Given the description of an element on the screen output the (x, y) to click on. 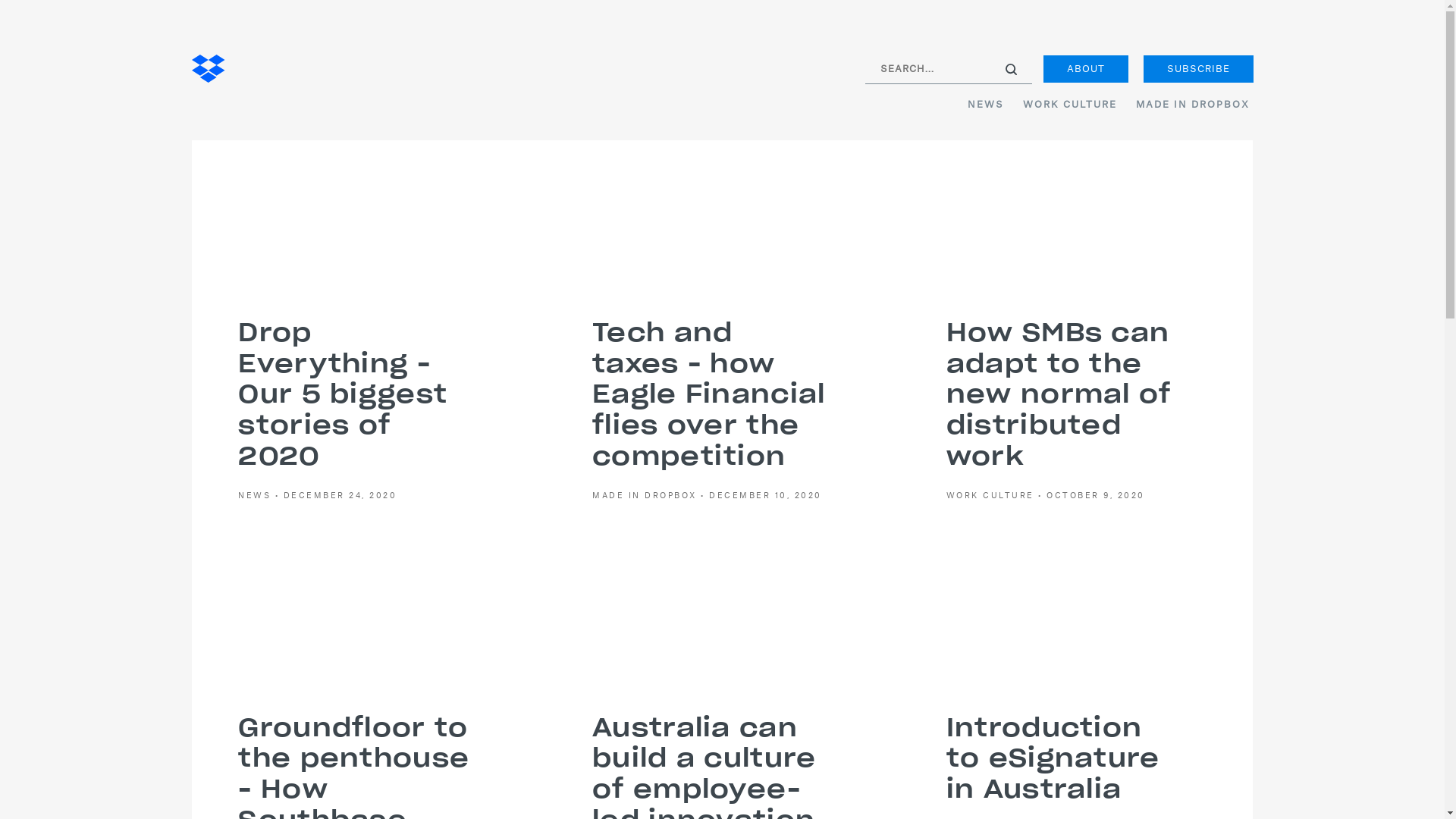
NEWS Element type: text (979, 104)
WORK CULTURE Element type: text (1064, 104)
ABOUT Element type: text (1085, 68)
Dropbox Element type: text (207, 69)
MADE IN DROPBOX Element type: text (1185, 104)
SUBSCRIBE Element type: text (1198, 68)
